Given the description of an element on the screen output the (x, y) to click on. 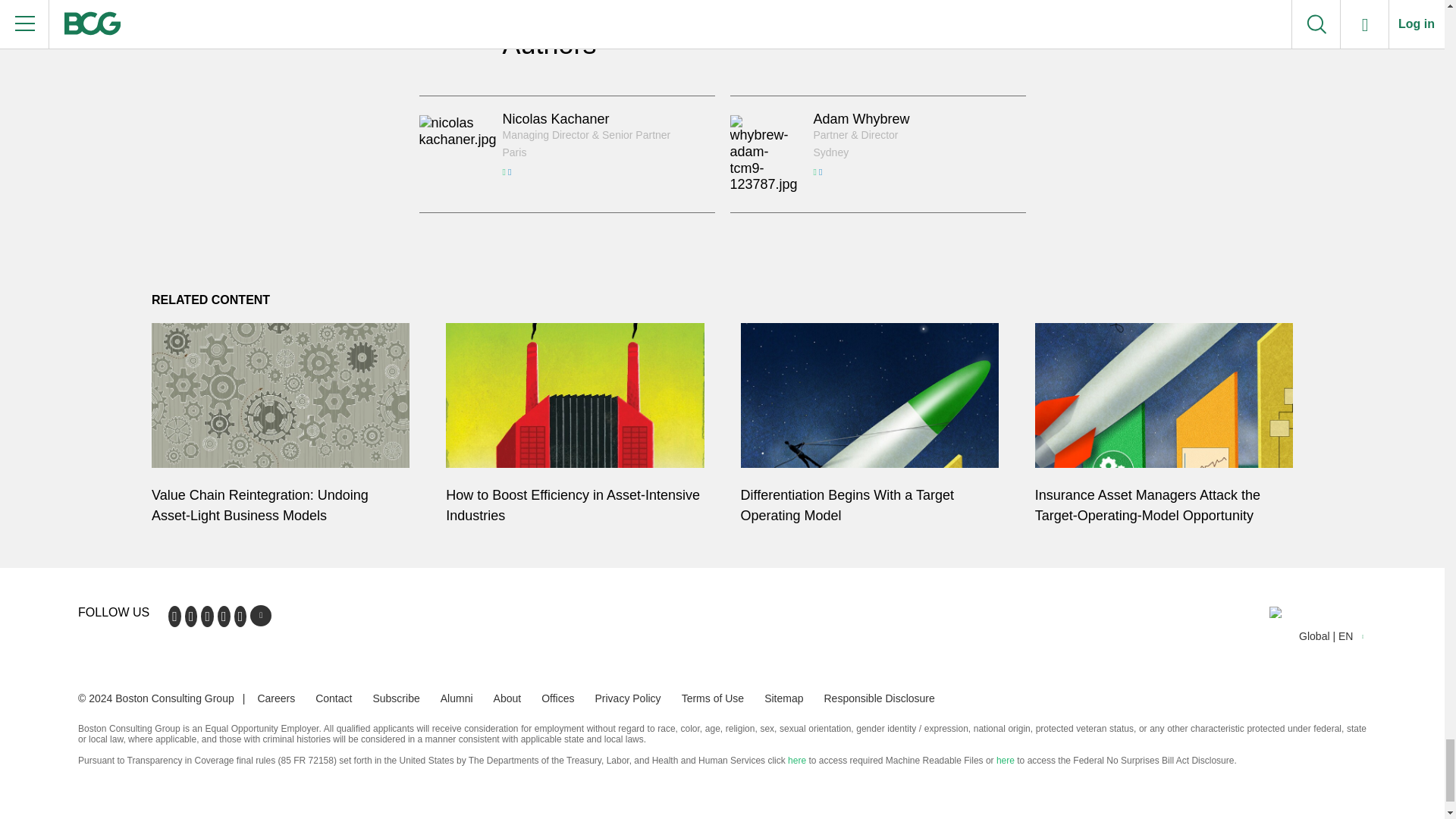
Nicolas Kachaner (555, 118)
